Given the description of an element on the screen output the (x, y) to click on. 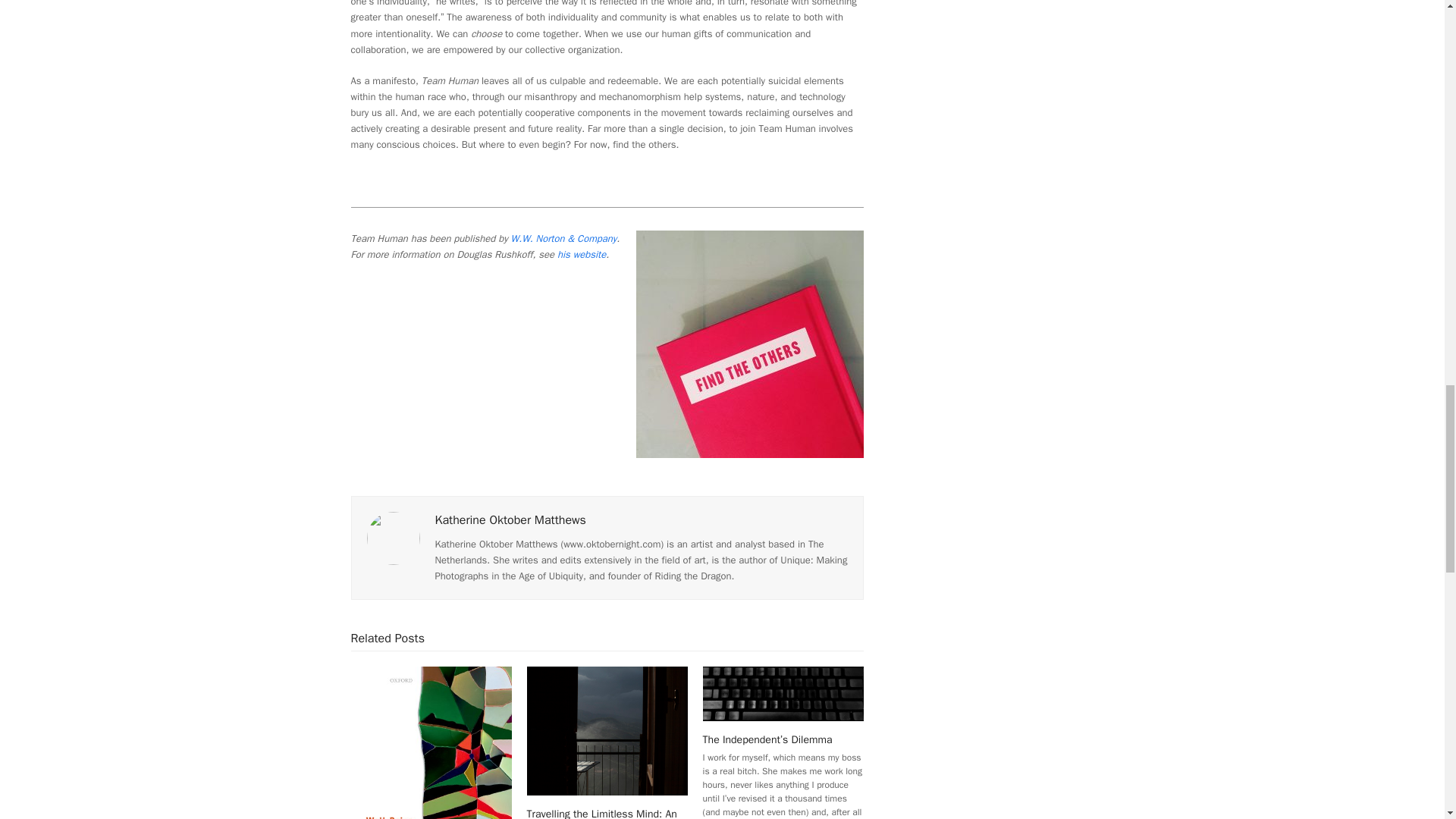
Visit Author Page (393, 536)
Visit Author Page (510, 519)
his website (581, 254)
Katherine Oktober Matthews (510, 519)
